Given the description of an element on the screen output the (x, y) to click on. 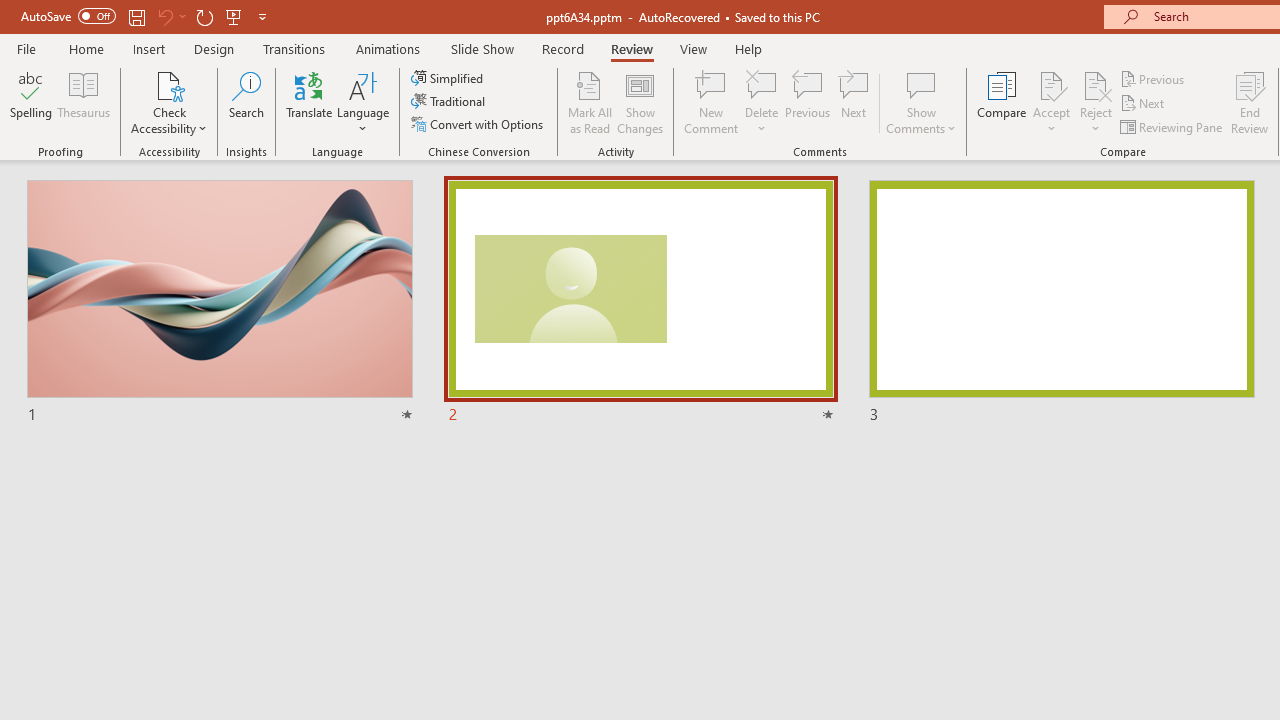
Reject (1096, 102)
Compare (1002, 102)
Convert with Options... (479, 124)
Translate (309, 102)
Show Changes (639, 102)
